Given the description of an element on the screen output the (x, y) to click on. 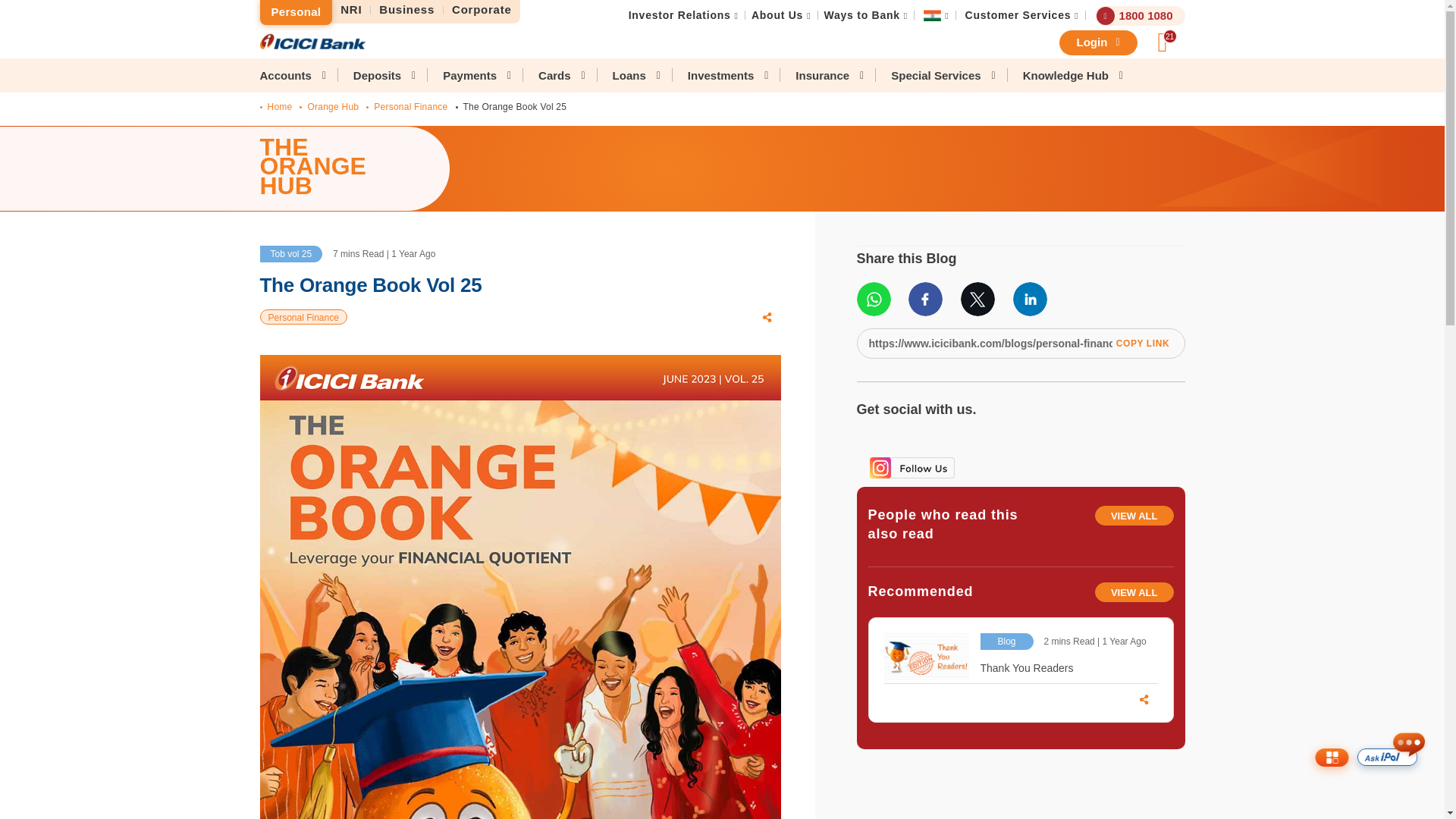
Personal (295, 12)
About Us (777, 15)
Investor Relations (679, 15)
Corporate (481, 9)
NRI (351, 9)
Business (407, 9)
Customer Services (1018, 15)
Ways to Bank (861, 15)
